Given the description of an element on the screen output the (x, y) to click on. 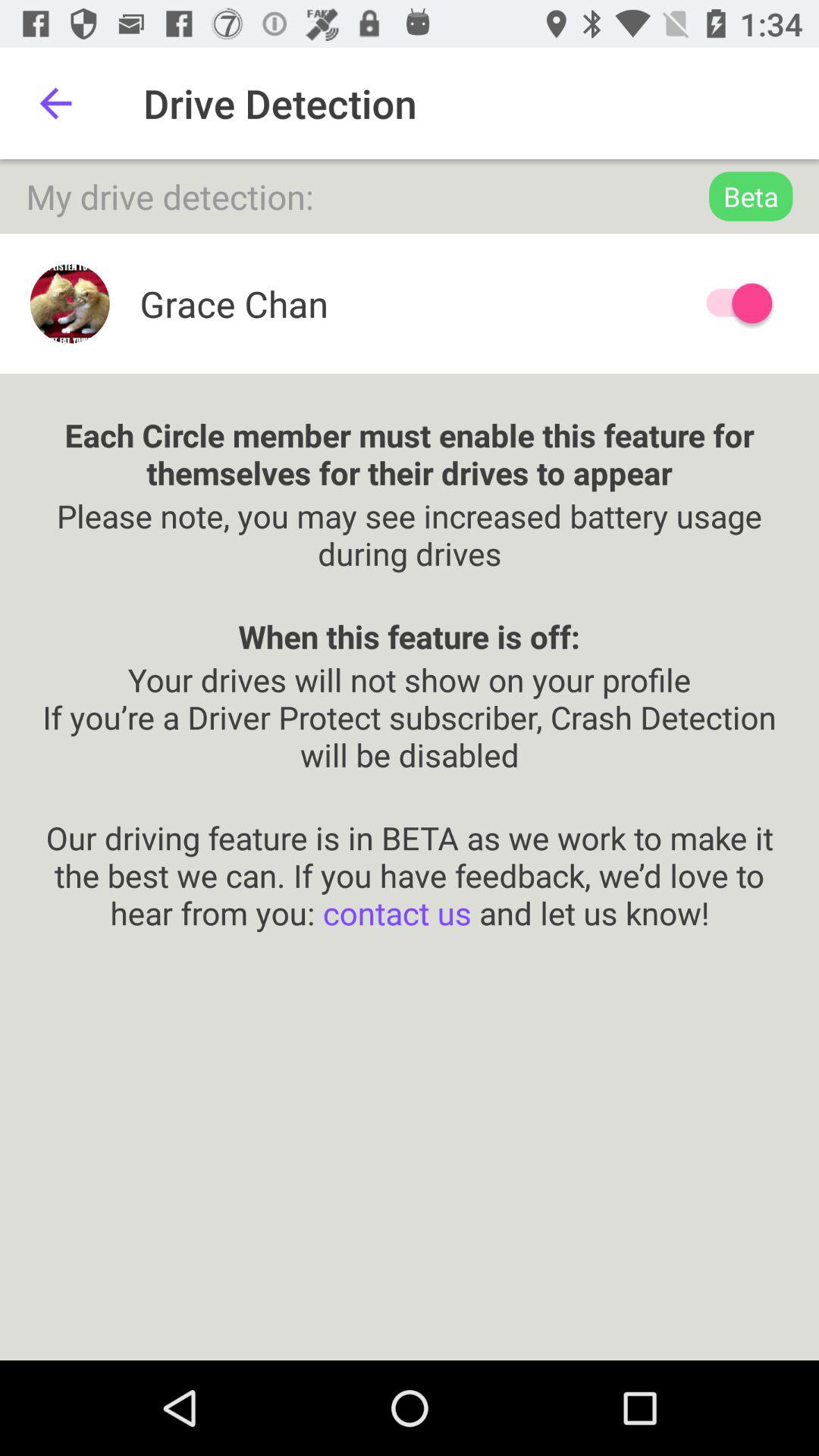
select the icon above each circle member icon (731, 303)
